Given the description of an element on the screen output the (x, y) to click on. 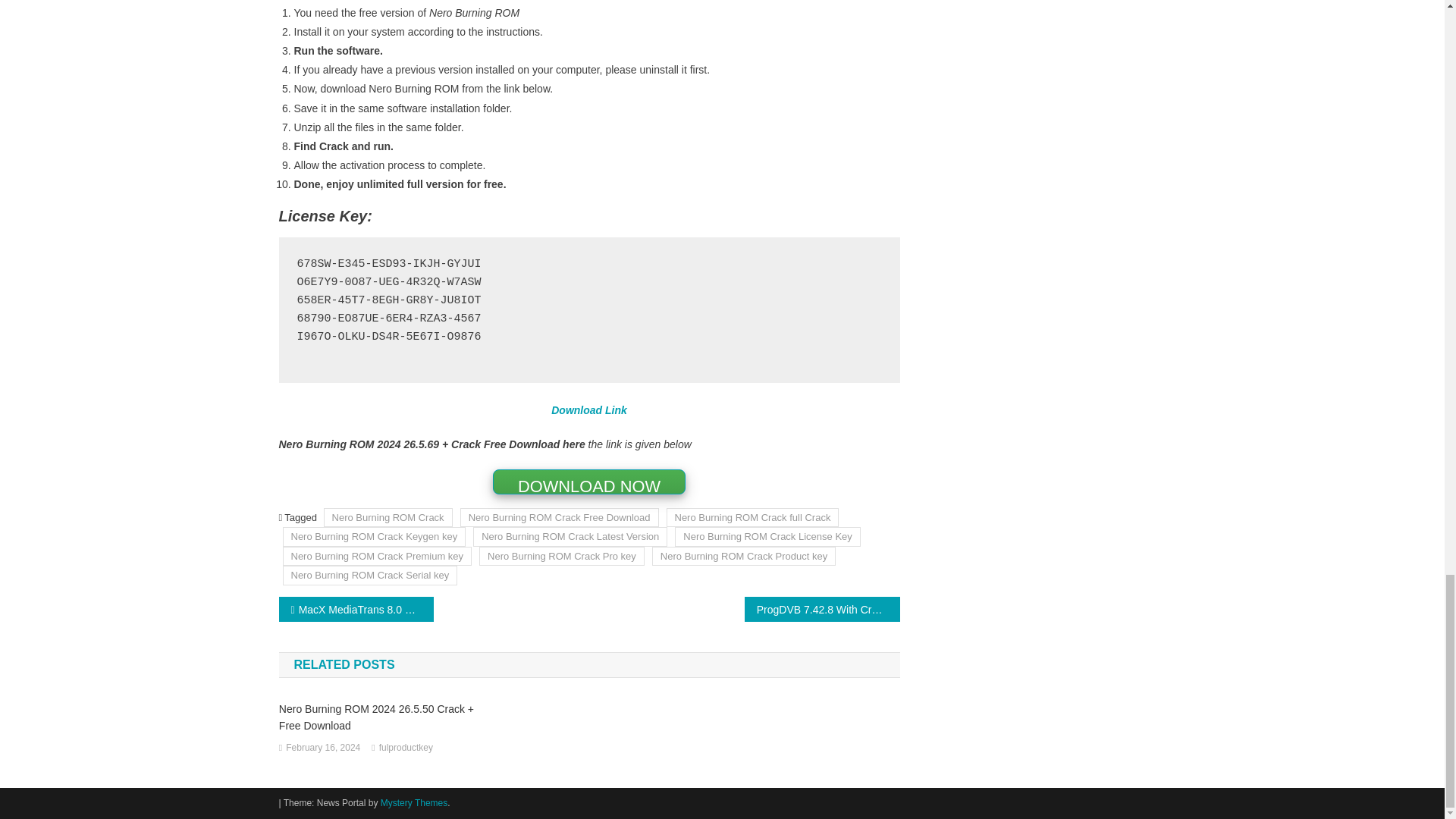
Nero Burning ROM Crack Keygen key (373, 536)
Nero Burning ROM Crack Free Download (559, 517)
Nero Burning ROM Crack Product key (743, 556)
Nero Burning ROM Crack Latest Version (569, 536)
Nero Burning ROM Crack full Crack (751, 517)
Download Link (589, 410)
Nero Burning ROM Crack (387, 517)
Nero Burning ROM Crack Pro key (562, 556)
DOWNLOAD NOW (589, 480)
Nero Burning ROM Crack Premium key (376, 556)
DOWNLOAD NOW (589, 481)
Nero Burning ROM Crack License Key (767, 536)
